Given the description of an element on the screen output the (x, y) to click on. 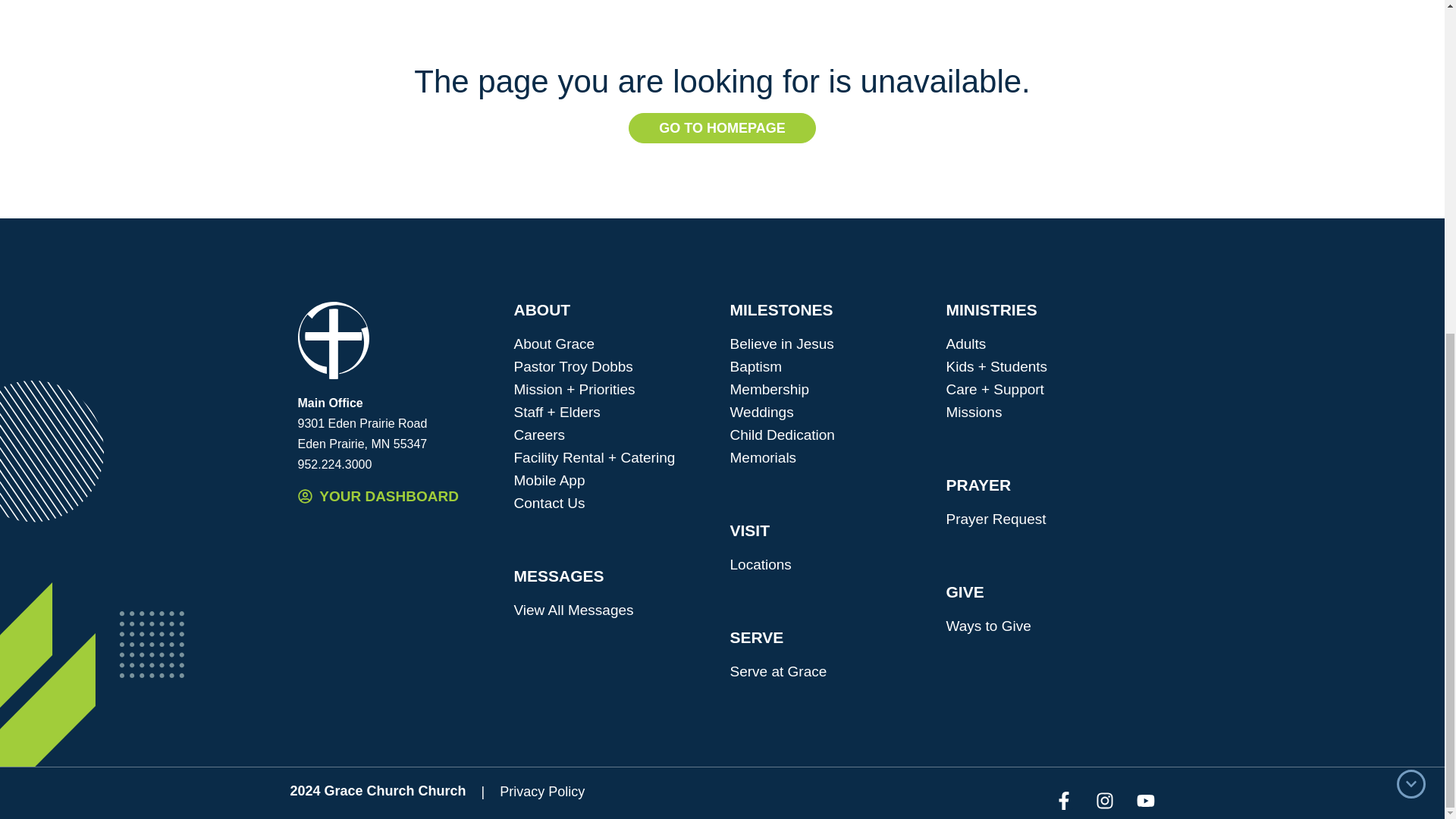
Believe in Jesus (829, 343)
View All Messages (613, 609)
Contact Us (613, 503)
Mobile App (613, 480)
Careers (613, 435)
About Grace (613, 343)
Baptism (829, 366)
YOUR DASHBOARD (397, 495)
GO TO HOMEPAGE (721, 128)
Pastor Troy Dobbs (613, 366)
